Given the description of an element on the screen output the (x, y) to click on. 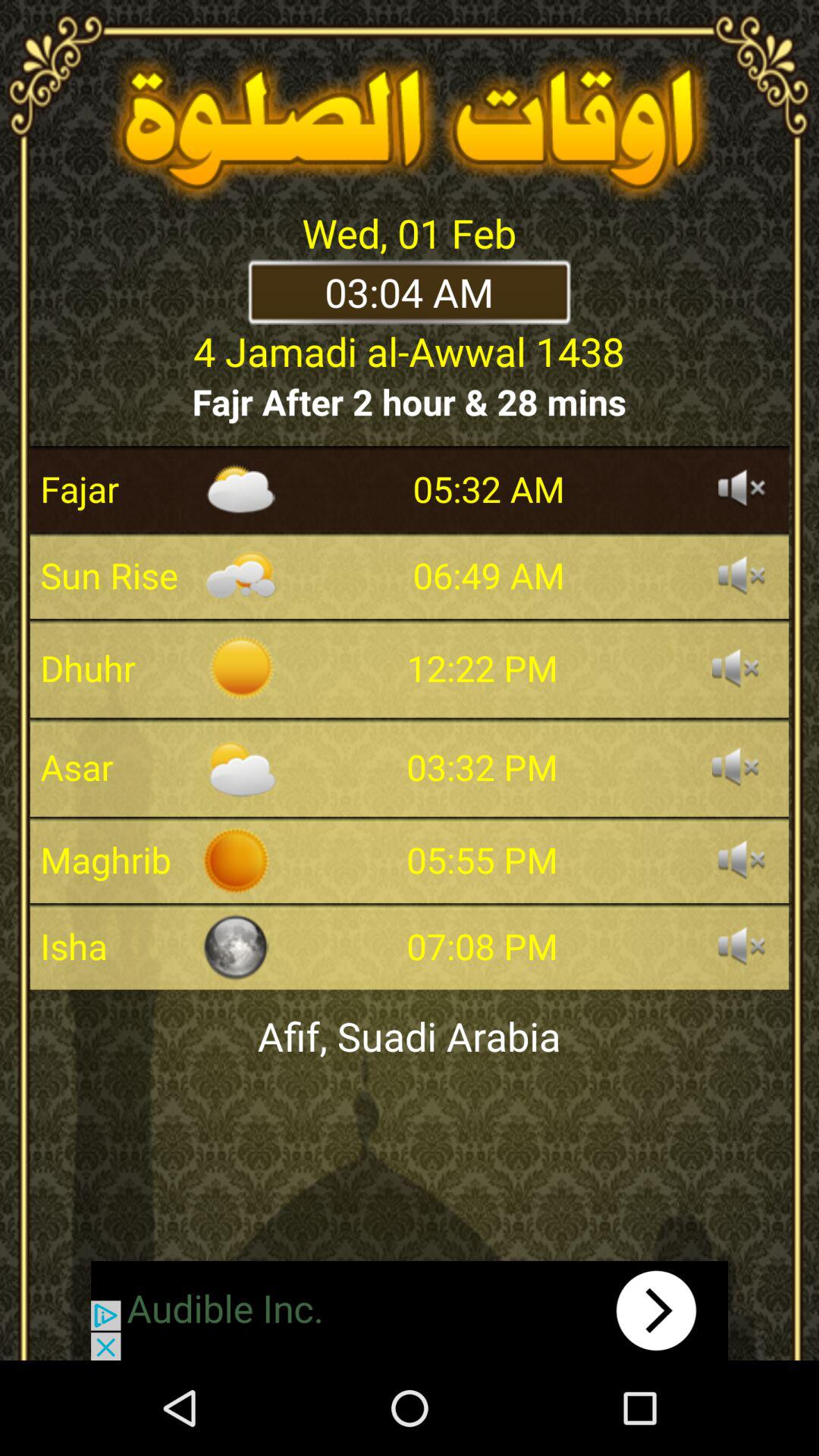
toggle mute (741, 946)
